Given the description of an element on the screen output the (x, y) to click on. 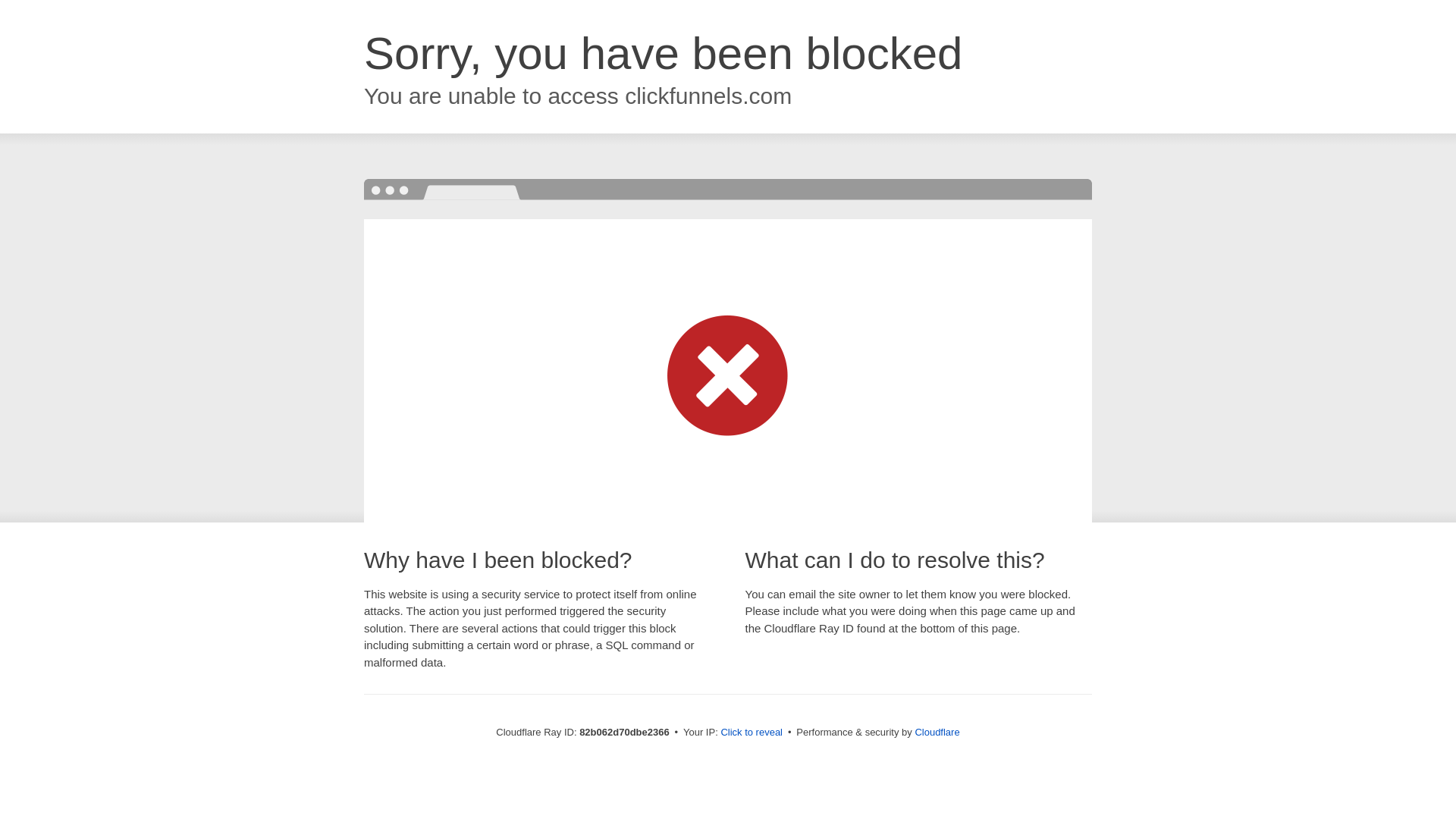
Click to reveal Element type: text (751, 732)
Cloudflare Element type: text (936, 731)
